Given the description of an element on the screen output the (x, y) to click on. 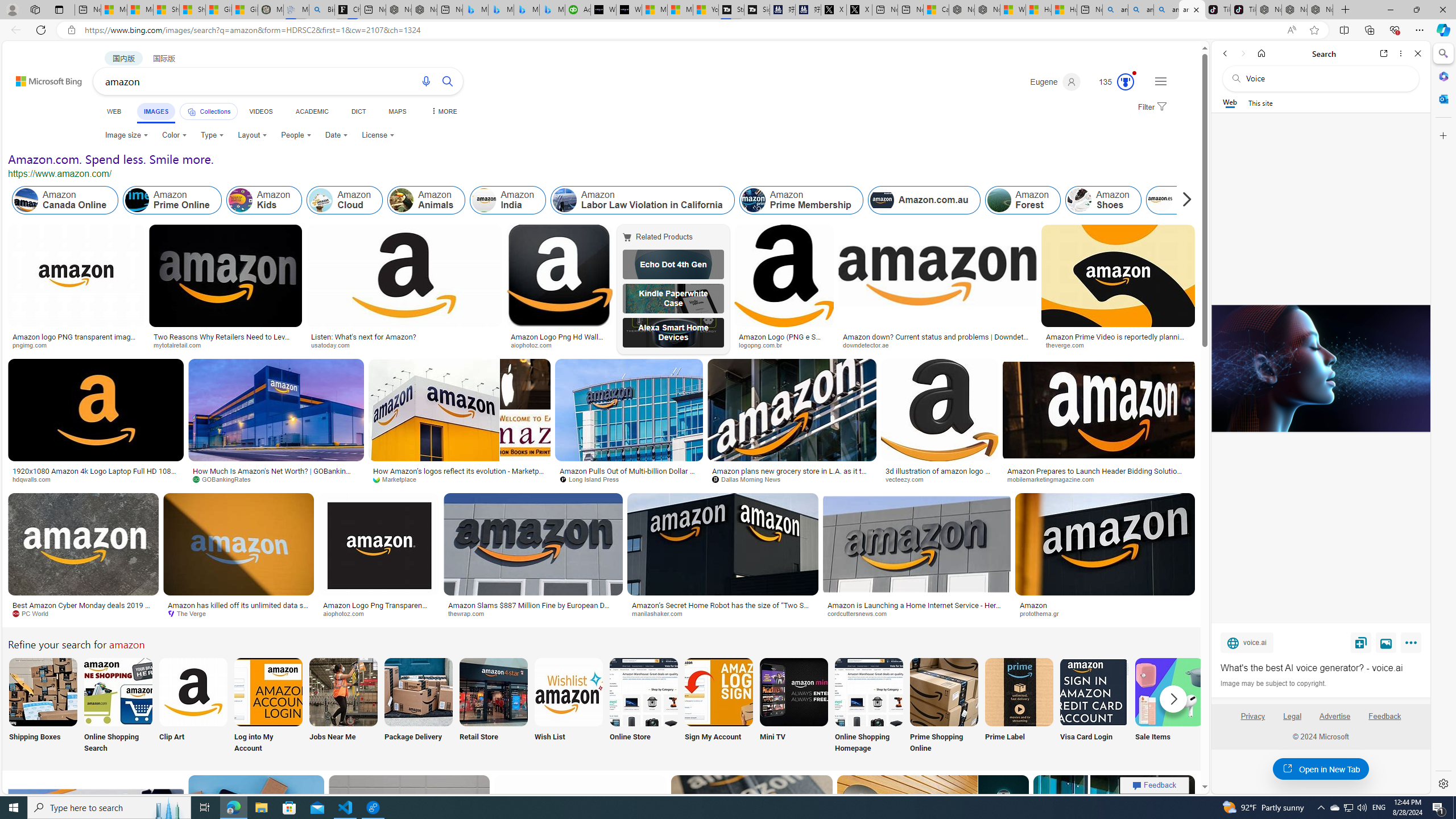
Streaming Coverage | T3 (730, 9)
Amazon Forest (999, 200)
Amazon Spain (1159, 200)
Prime Shopping Online (944, 706)
Amazon Prime Shopping Online Prime Shopping Online (944, 706)
Log into My Account (268, 706)
Amazon Labor Law Violation in California (564, 200)
Layout (253, 135)
Amazon Mini TV (794, 691)
voice.ai (1247, 642)
Scroll more suggestions right (1173, 698)
Amazon Sign in My Account (718, 691)
